Given the description of an element on the screen output the (x, y) to click on. 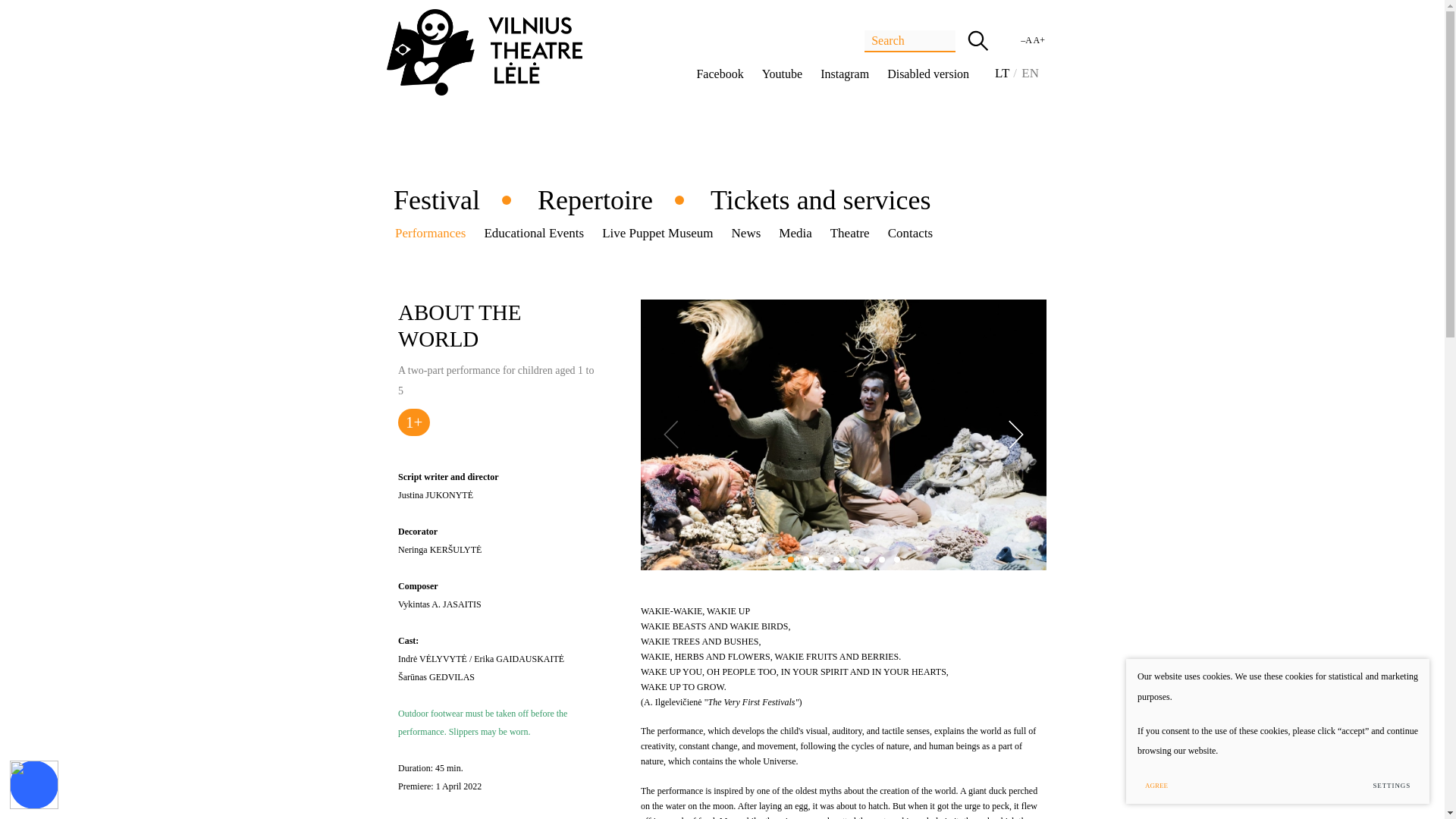
EN (1029, 73)
Instagram (843, 73)
Tickets and services (820, 200)
Contacts (910, 233)
Accessibility Menu (34, 784)
English language (1029, 73)
Live Puppet Museum (657, 233)
Repertoire (594, 200)
Disabled version (927, 73)
Festival (436, 200)
Youtube (782, 73)
Media (795, 233)
News (746, 233)
Theatre (850, 233)
Facebook (719, 73)
